Given the description of an element on the screen output the (x, y) to click on. 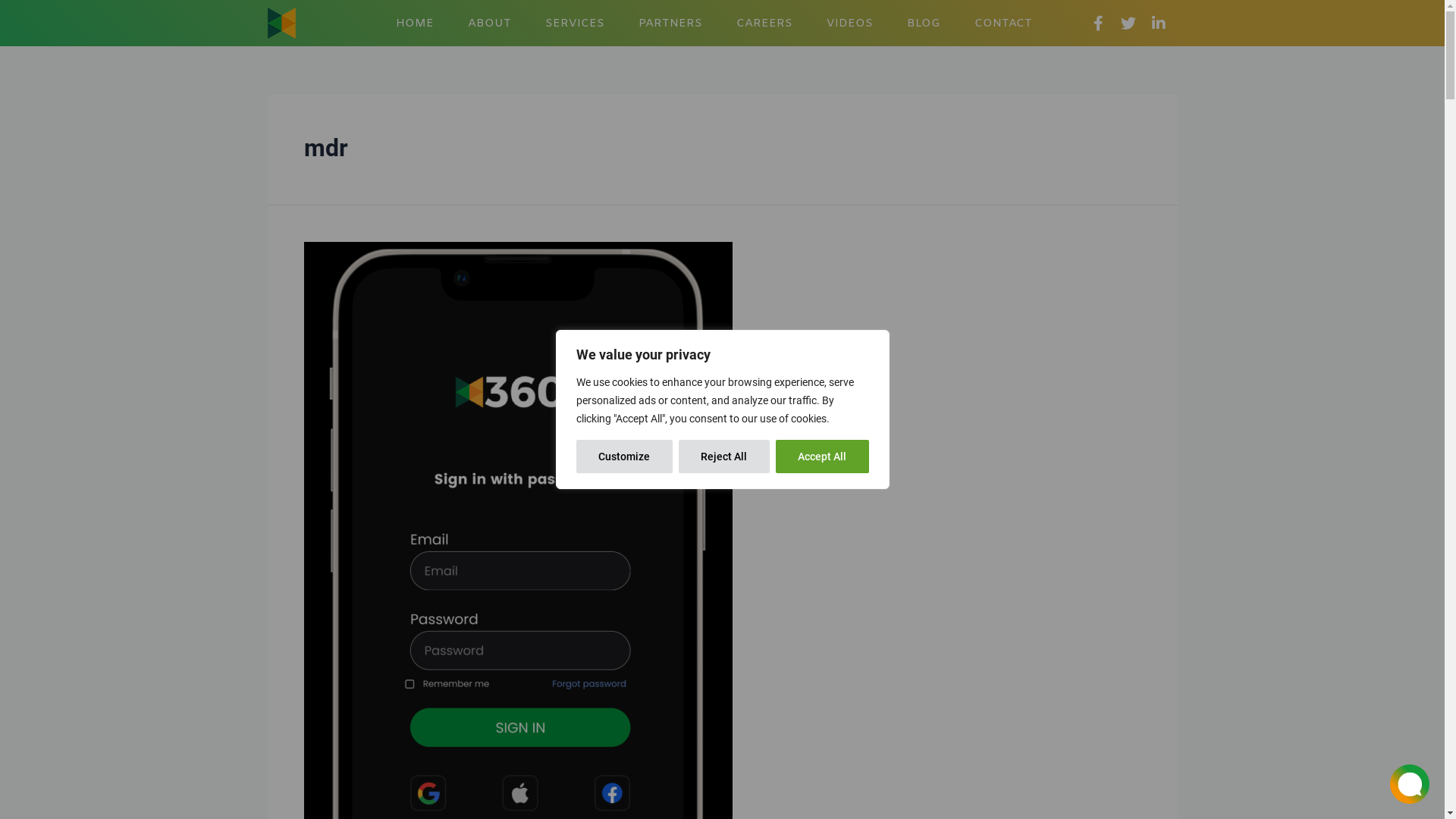
ABOUT Element type: text (489, 23)
CAREERS Element type: text (764, 23)
CONTACT Element type: text (1002, 23)
SERVICES Element type: text (574, 23)
PARTNERS Element type: text (669, 23)
BLOG Element type: text (923, 23)
Accept All Element type: text (821, 456)
VIDEOS Element type: text (849, 23)
Customize Element type: text (624, 456)
Reject All Element type: text (722, 456)
HOME Element type: text (414, 23)
